Given the description of an element on the screen output the (x, y) to click on. 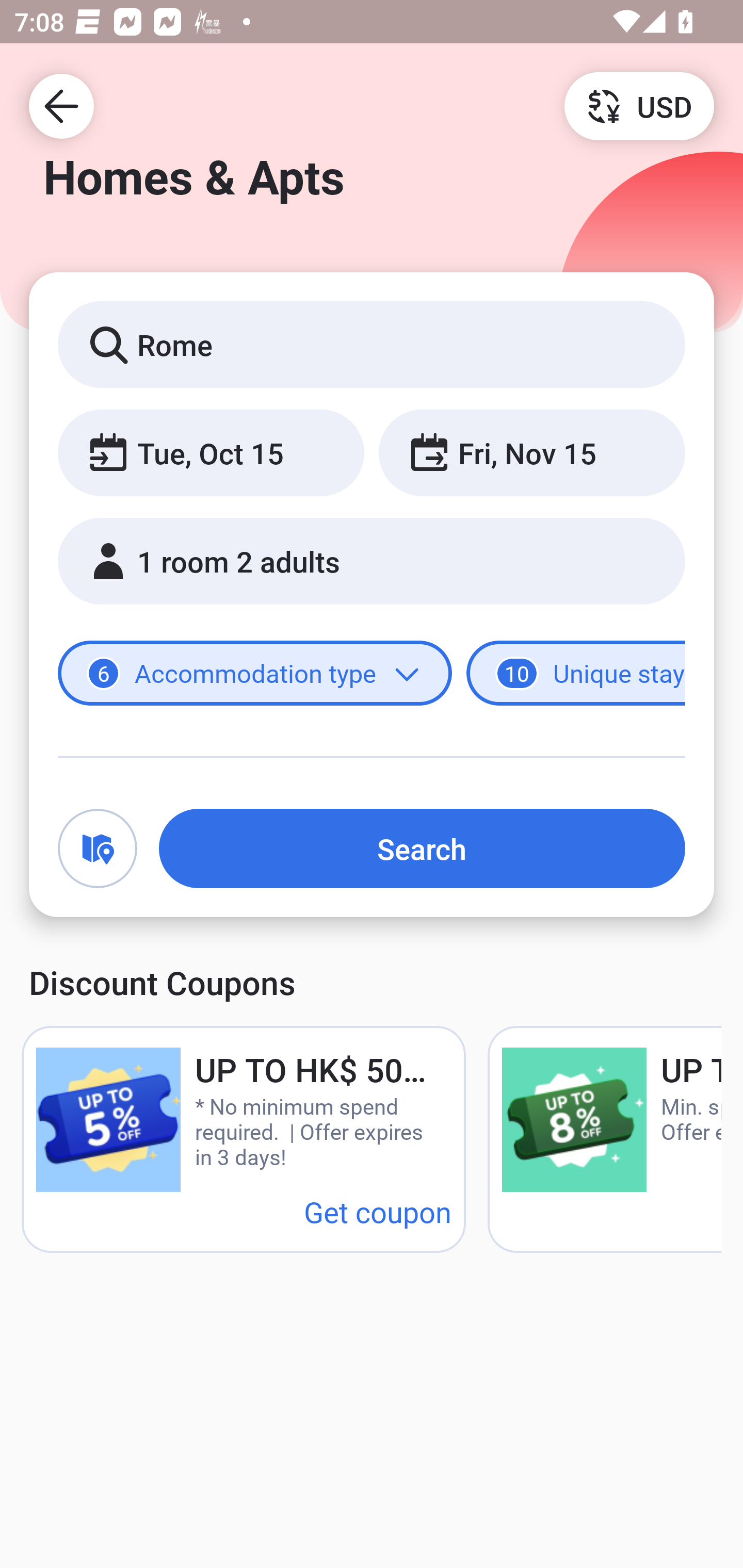
USD (639, 105)
Rome (371, 344)
Tue, Oct 15 (210, 452)
Fri, Nov 15 (531, 452)
1 room 2 adults (371, 561)
6 Accommodation type (254, 673)
10 Unique stays (575, 673)
Search (422, 848)
Get coupon (377, 1211)
